Given the description of an element on the screen output the (x, y) to click on. 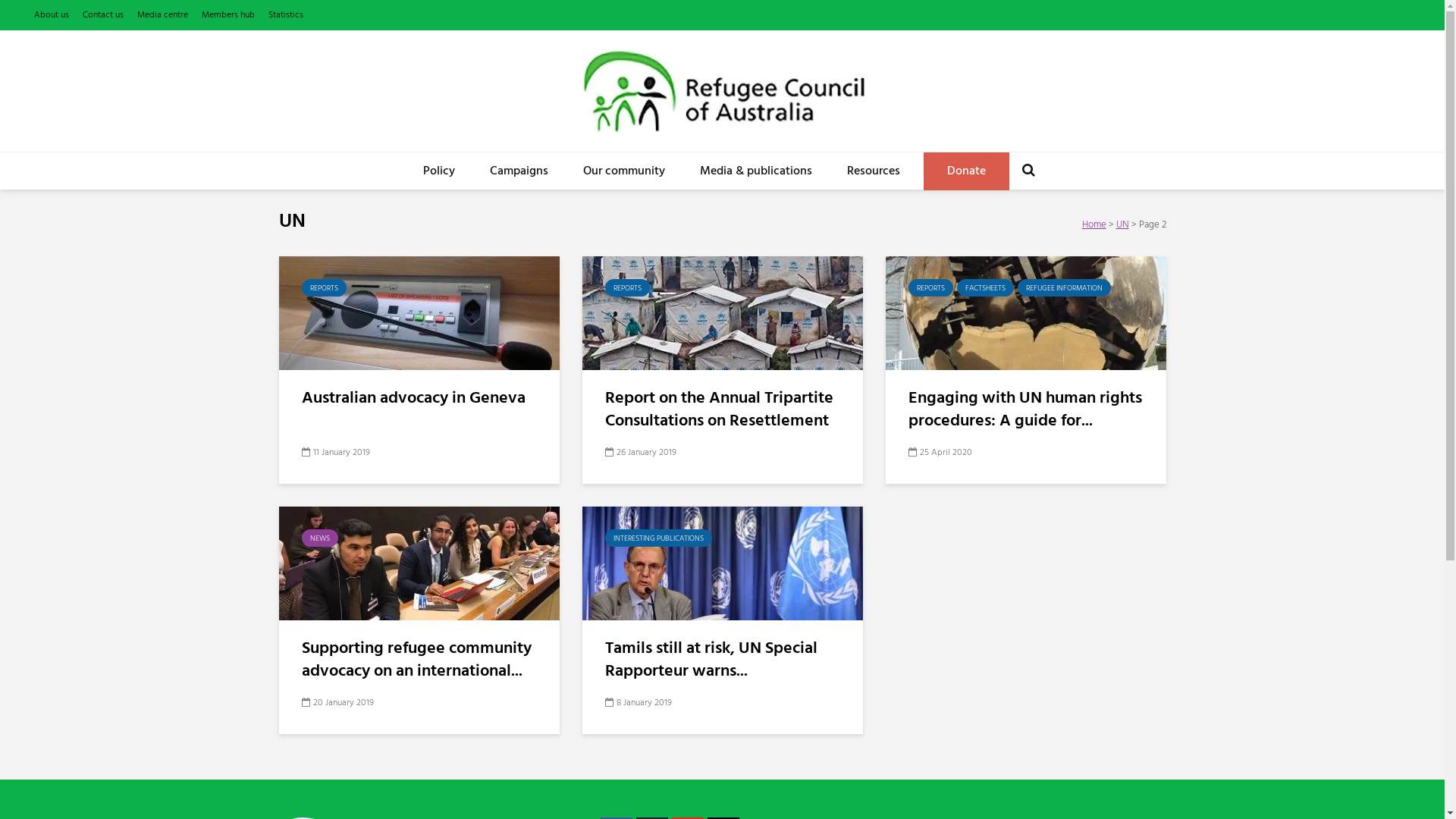
Engaging with UN human rights procedures: A guide for... Element type: text (1025, 410)
Policy Element type: text (438, 171)
Australian advocacy in Geneva Element type: hover (419, 313)
REPORTS Element type: text (627, 287)
Campaigns Element type: text (518, 171)
REPORTS Element type: text (323, 287)
Our community Element type: text (623, 171)
Members hub Element type: text (227, 14)
NEWS Element type: text (319, 537)
Australian advocacy in Geneva 1 Element type: hover (419, 313)
Australian advocacy in Geneva Element type: text (418, 398)
Media centre Element type: text (162, 14)
Tamils still at risk, UN Special Rapporteur warns... Element type: text (722, 660)
FACTSHEETS Element type: text (985, 287)
About us Element type: text (51, 14)
Supporting refugee community advocacy on an international... Element type: text (418, 660)
REPORTS Element type: text (930, 287)
UN Element type: text (1122, 224)
Donate Element type: text (966, 171)
Media & publications Element type: text (755, 171)
Statistics Element type: text (285, 14)
REFUGEE INFORMATION Element type: text (1063, 287)
Home Element type: text (1093, 224)
Contact us Element type: text (102, 14)
Resources Element type: text (873, 171)
INTERESTING PUBLICATIONS Element type: text (658, 537)
